Given the description of an element on the screen output the (x, y) to click on. 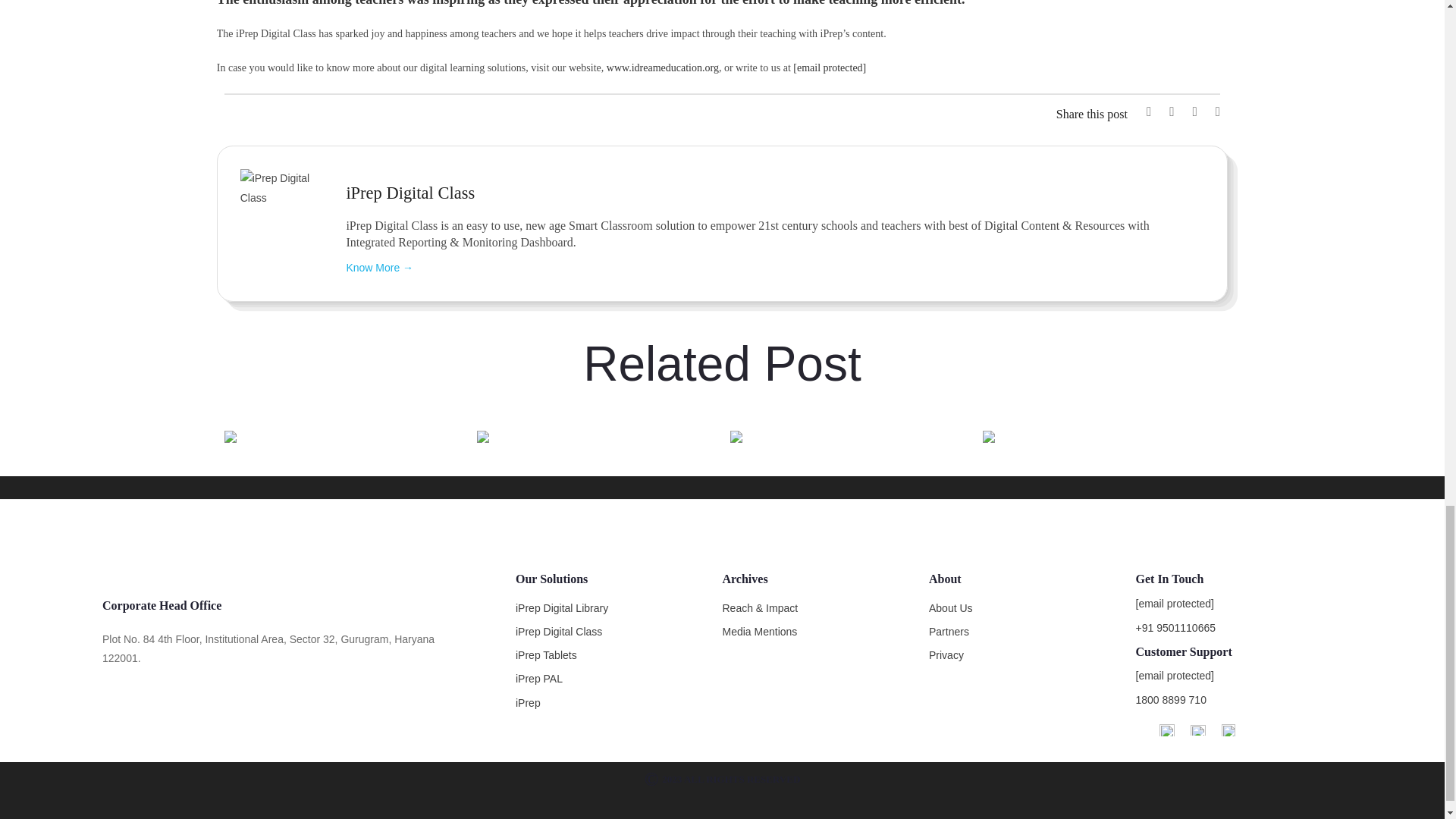
iPrep Digital Class (280, 187)
Enabling (595, 435)
Digital (847, 435)
www.idreameducation.org (663, 67)
Tata (1101, 435)
Tablet-based (342, 435)
